Given the description of an element on the screen output the (x, y) to click on. 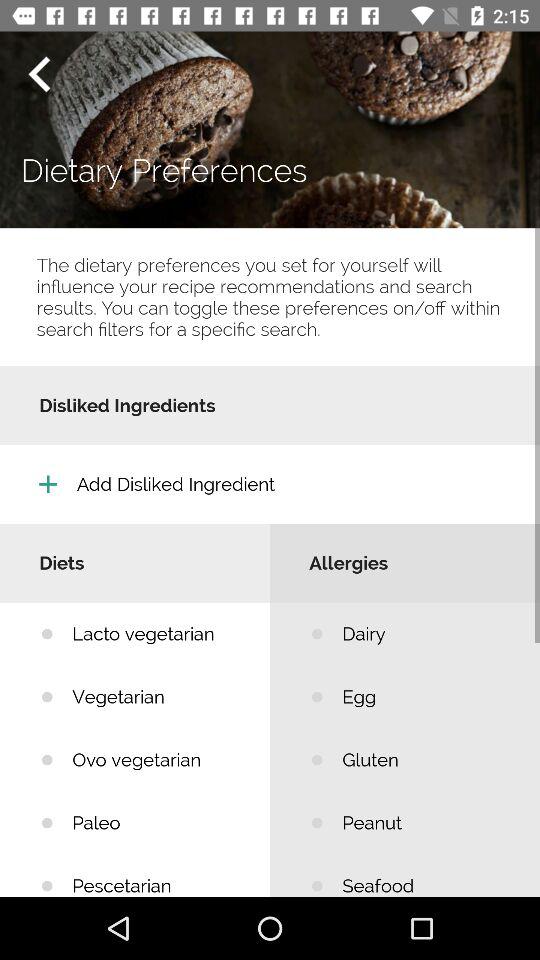
open paleo icon (156, 822)
